Given the description of an element on the screen output the (x, y) to click on. 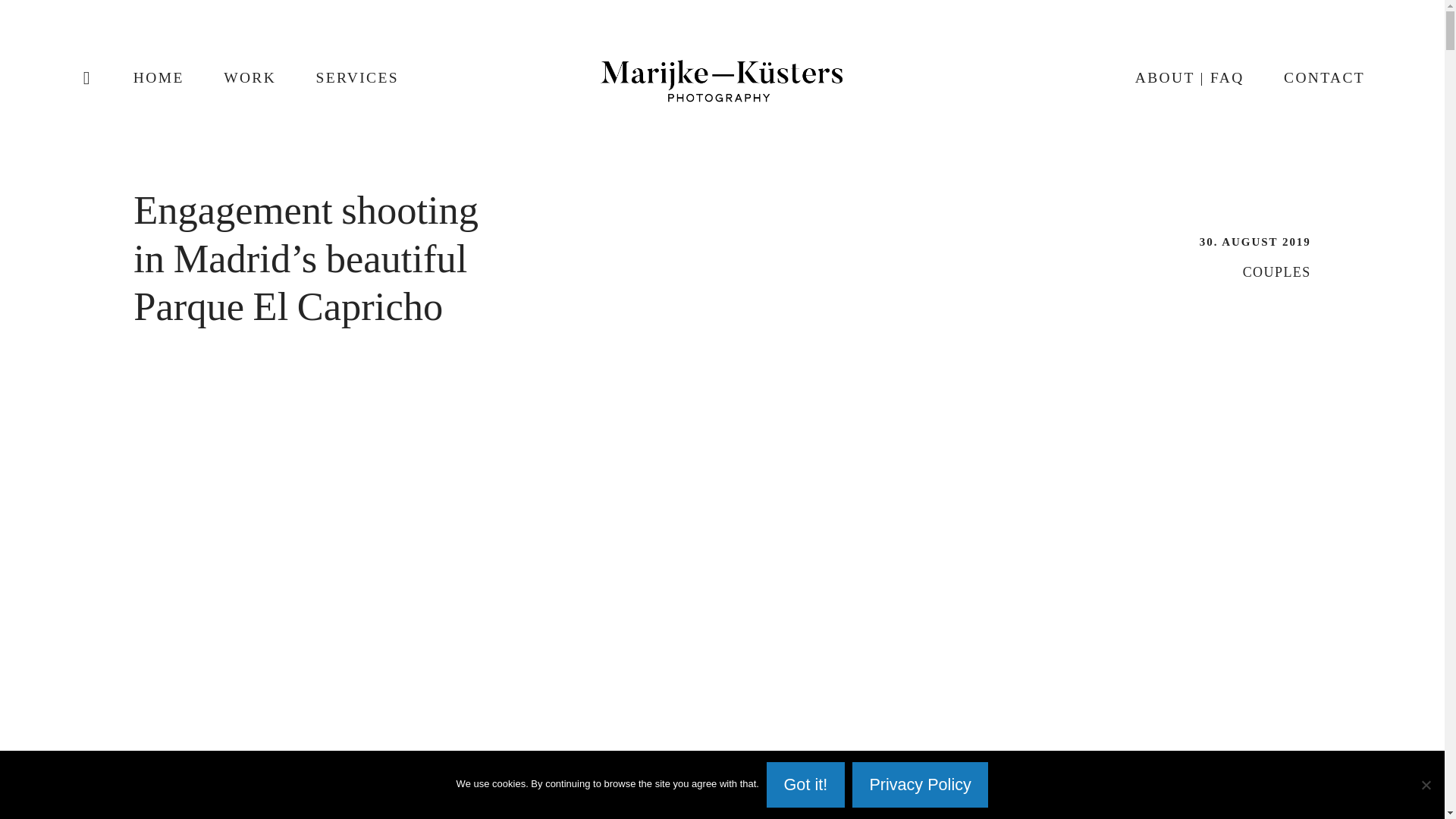
HOME (158, 77)
SERVICES (356, 77)
COUPLES (1277, 272)
CONTACT (1324, 77)
Nein (1425, 784)
WORK (250, 77)
